Given the description of an element on the screen output the (x, y) to click on. 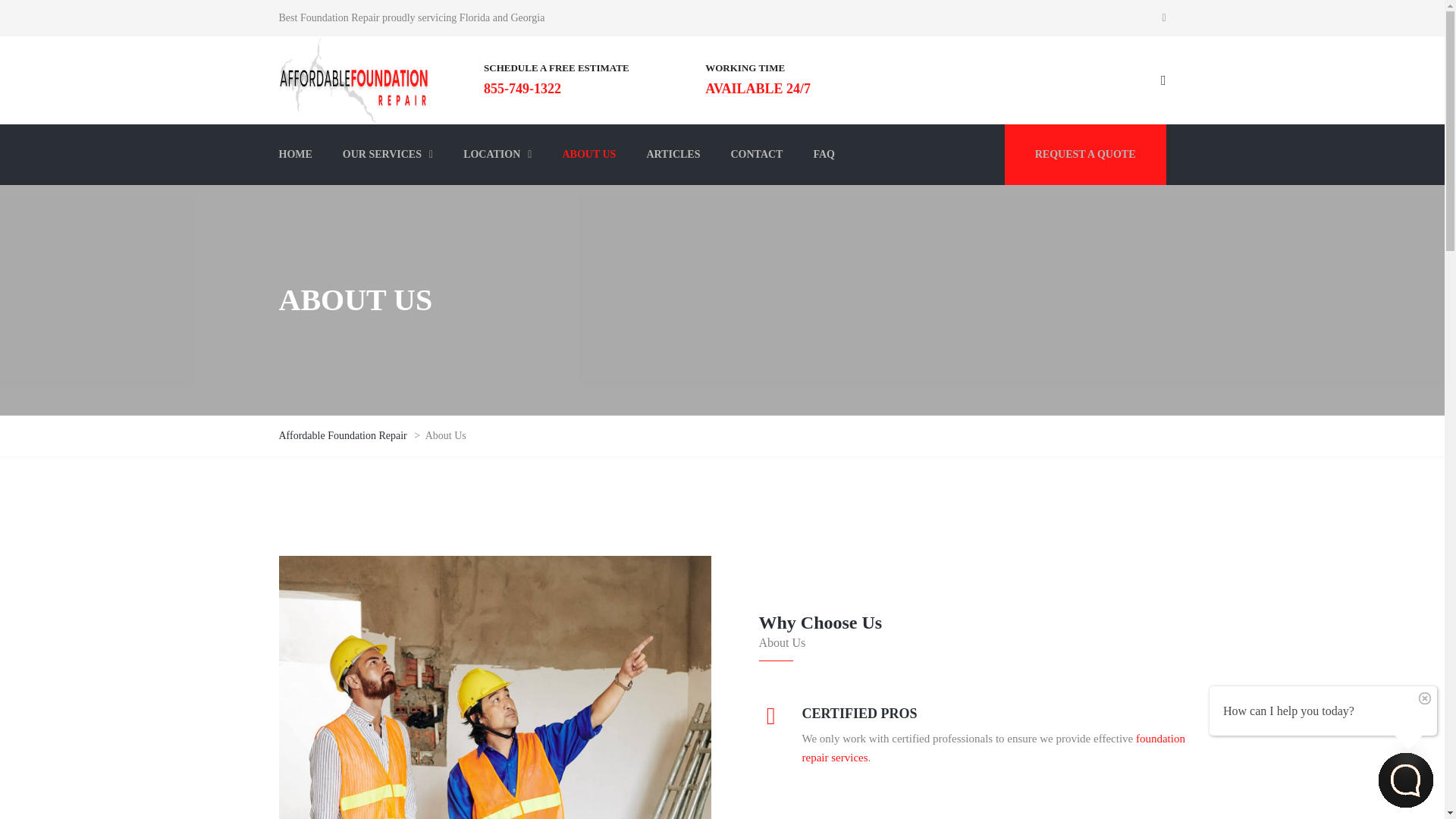
Go to Affordable Foundation Repair. (344, 435)
OUR SERVICES (387, 154)
CONTACT (755, 154)
foundation repair services (993, 748)
LOCATION (497, 154)
ARTICLES (672, 154)
ABOUT US (588, 154)
855-749-1322 (521, 88)
REQUEST A QUOTE (1085, 154)
Affordable Foundation Repair (344, 435)
